Given the description of an element on the screen output the (x, y) to click on. 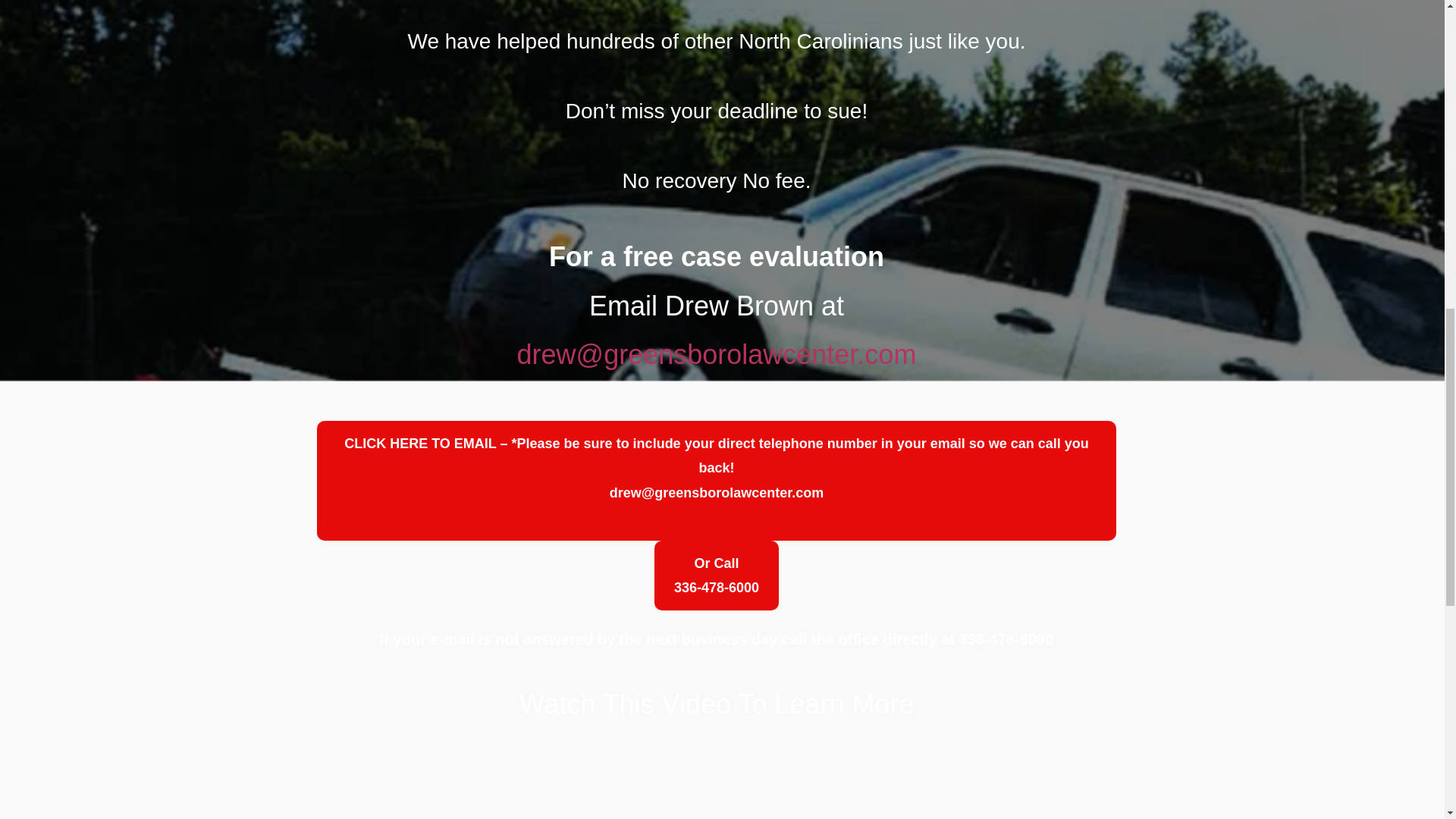
NC Title Loan Justice Center Drew Brown (715, 575)
